Given the description of an element on the screen output the (x, y) to click on. 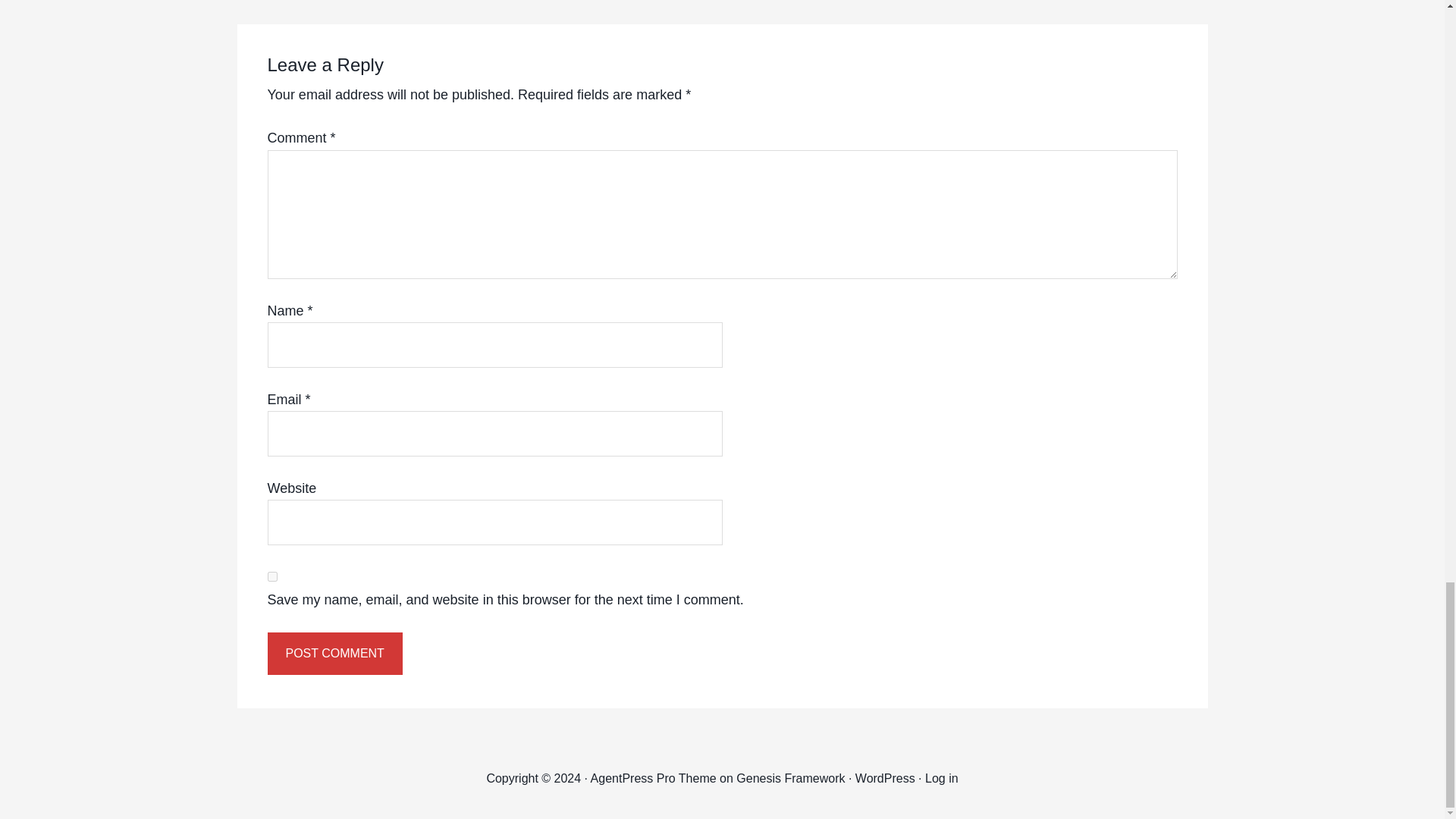
AgentPress Pro Theme (653, 778)
Post Comment (333, 653)
yes (271, 576)
Genesis Framework (790, 778)
WordPress (885, 778)
Log in (941, 778)
Post Comment (333, 653)
